Given the description of an element on the screen output the (x, y) to click on. 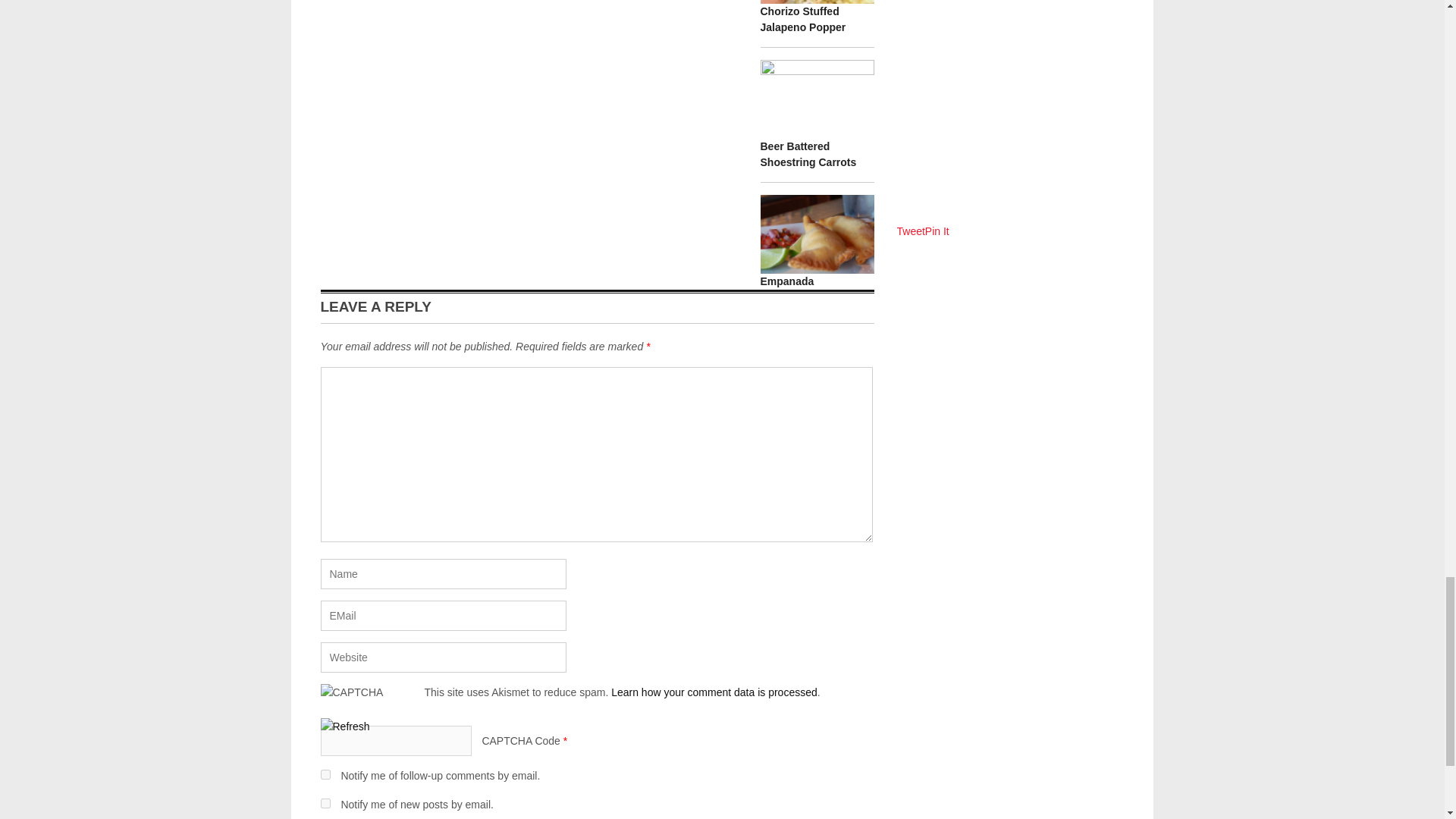
Learn how your comment data is processed (713, 692)
Beer Battered Shoestring Carrots (808, 154)
Empanada (786, 281)
CAPTCHA (371, 700)
Chorizo Stuffed Jalapeno Popper (802, 18)
Beer Battered Shoestring Carrots (808, 154)
Refresh (344, 726)
Chorizo Stuffed Jalapeno Popper (802, 18)
subscribe (325, 803)
Empanada (786, 281)
